Given the description of an element on the screen output the (x, y) to click on. 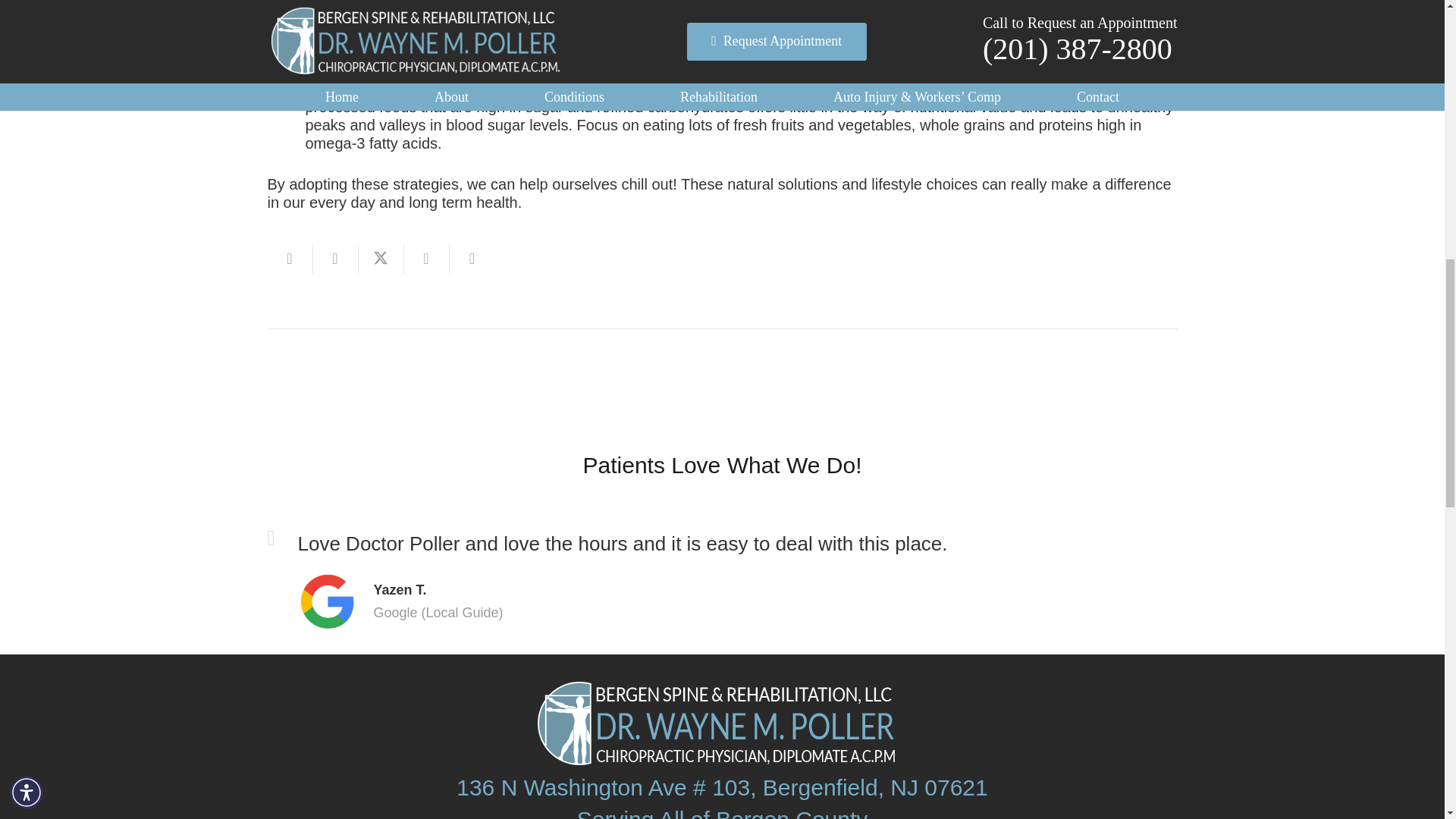
Pin this (471, 258)
Share this (425, 258)
Email this (289, 258)
Back to top (1413, 26)
Share this (335, 258)
Tweet this (380, 258)
